Given the description of an element on the screen output the (x, y) to click on. 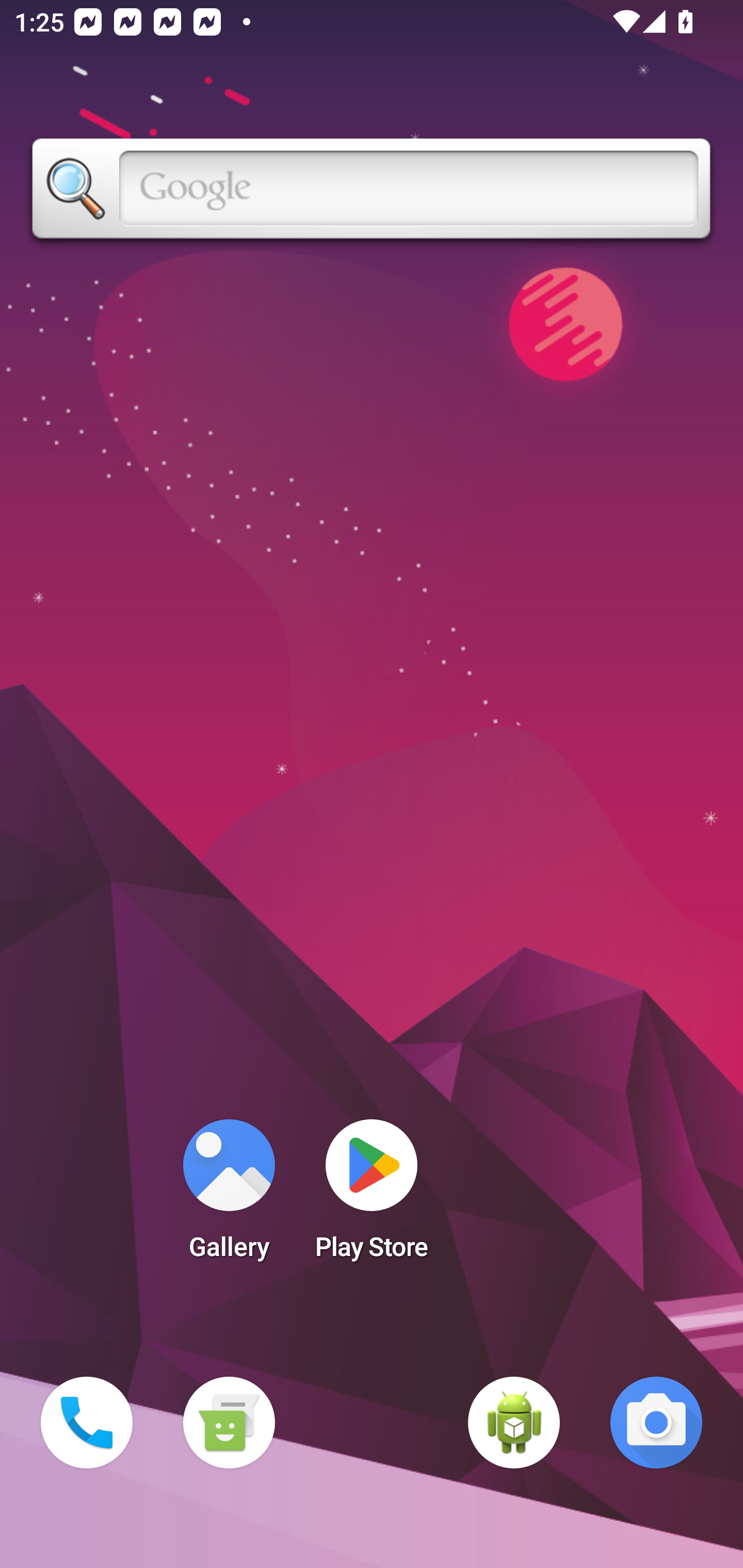
Gallery (228, 1195)
Play Store (371, 1195)
Phone (86, 1422)
Messaging (228, 1422)
WebView Browser Tester (513, 1422)
Camera (656, 1422)
